Given the description of an element on the screen output the (x, y) to click on. 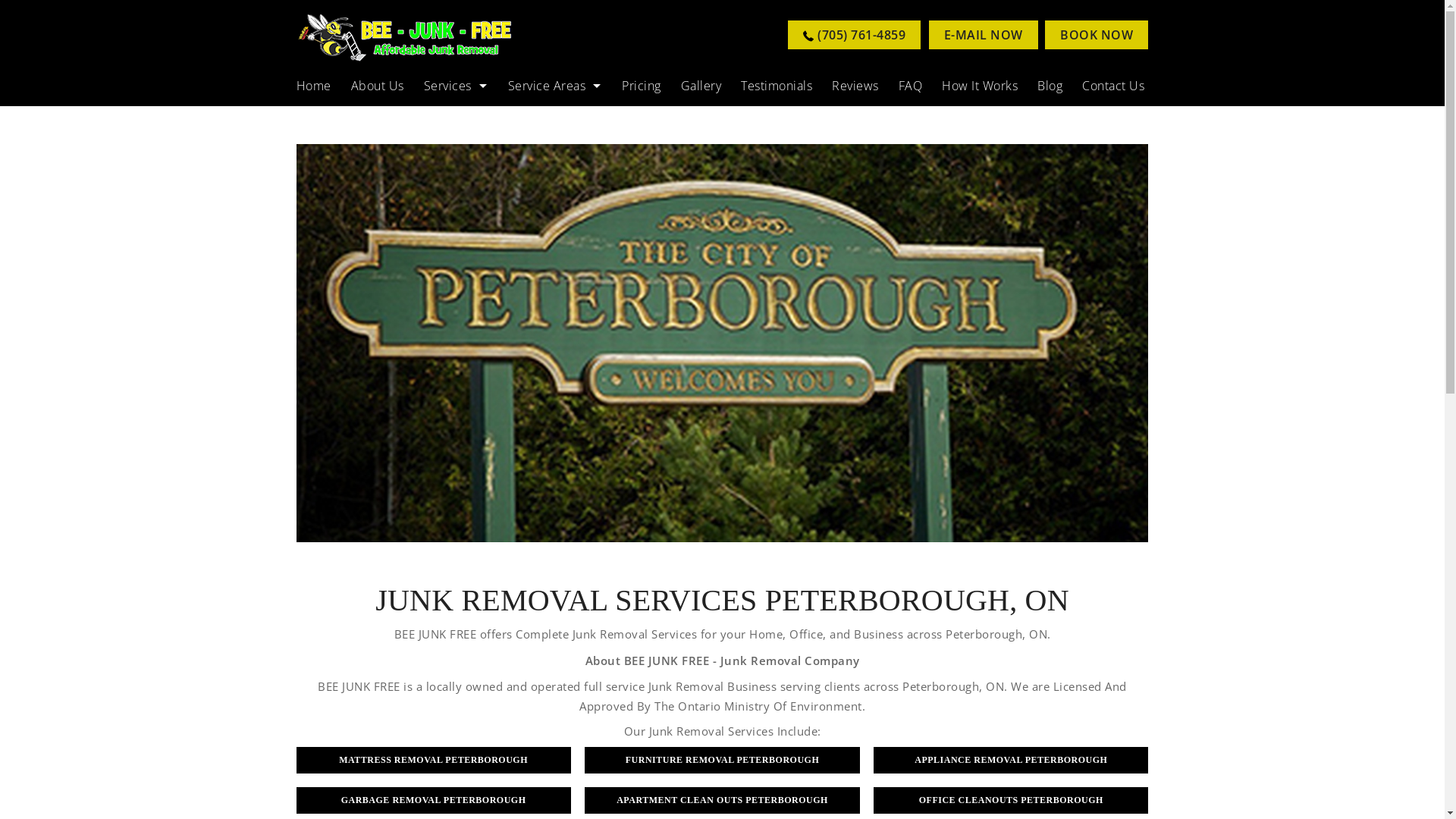
Service Areas Element type: text (555, 85)
MATTRESS REMOVAL PETERBOROUGH Element type: text (433, 759)
(705) 761-4859 Element type: text (854, 34)
Home Element type: text (318, 85)
APPLIANCE REMOVAL PETERBOROUGH Element type: text (1010, 759)
OFFICE CLEANOUTS PETERBOROUGH Element type: text (1010, 800)
Pricing Element type: text (641, 85)
Testimonials Element type: text (776, 85)
About Us Element type: text (377, 85)
Reviews Element type: text (855, 85)
How It Works Element type: text (979, 85)
Contact Us Element type: text (1108, 85)
Services Element type: text (456, 85)
E-MAIL NOW Element type: text (983, 34)
BOOK NOW Element type: text (1096, 34)
FURNITURE REMOVAL PETERBOROUGH Element type: text (721, 759)
FAQ Element type: text (910, 85)
Blog Element type: text (1049, 85)
GARBAGE REMOVAL PETERBOROUGH Element type: text (433, 800)
APARTMENT CLEAN OUTS PETERBOROUGH Element type: text (721, 800)
Gallery Element type: text (701, 85)
